Given the description of an element on the screen output the (x, y) to click on. 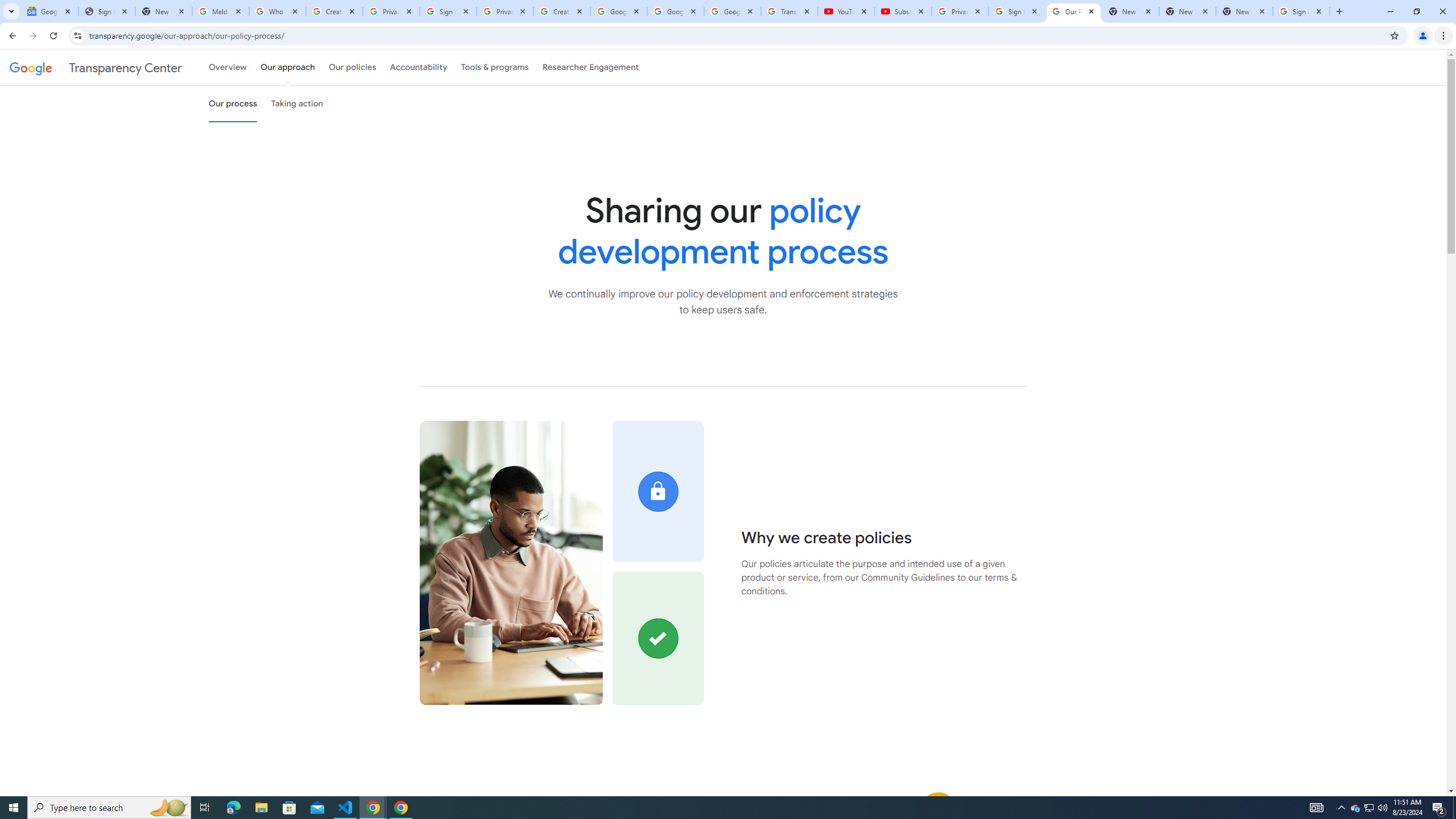
Subscriptions - YouTube (902, 11)
